Given the description of an element on the screen output the (x, y) to click on. 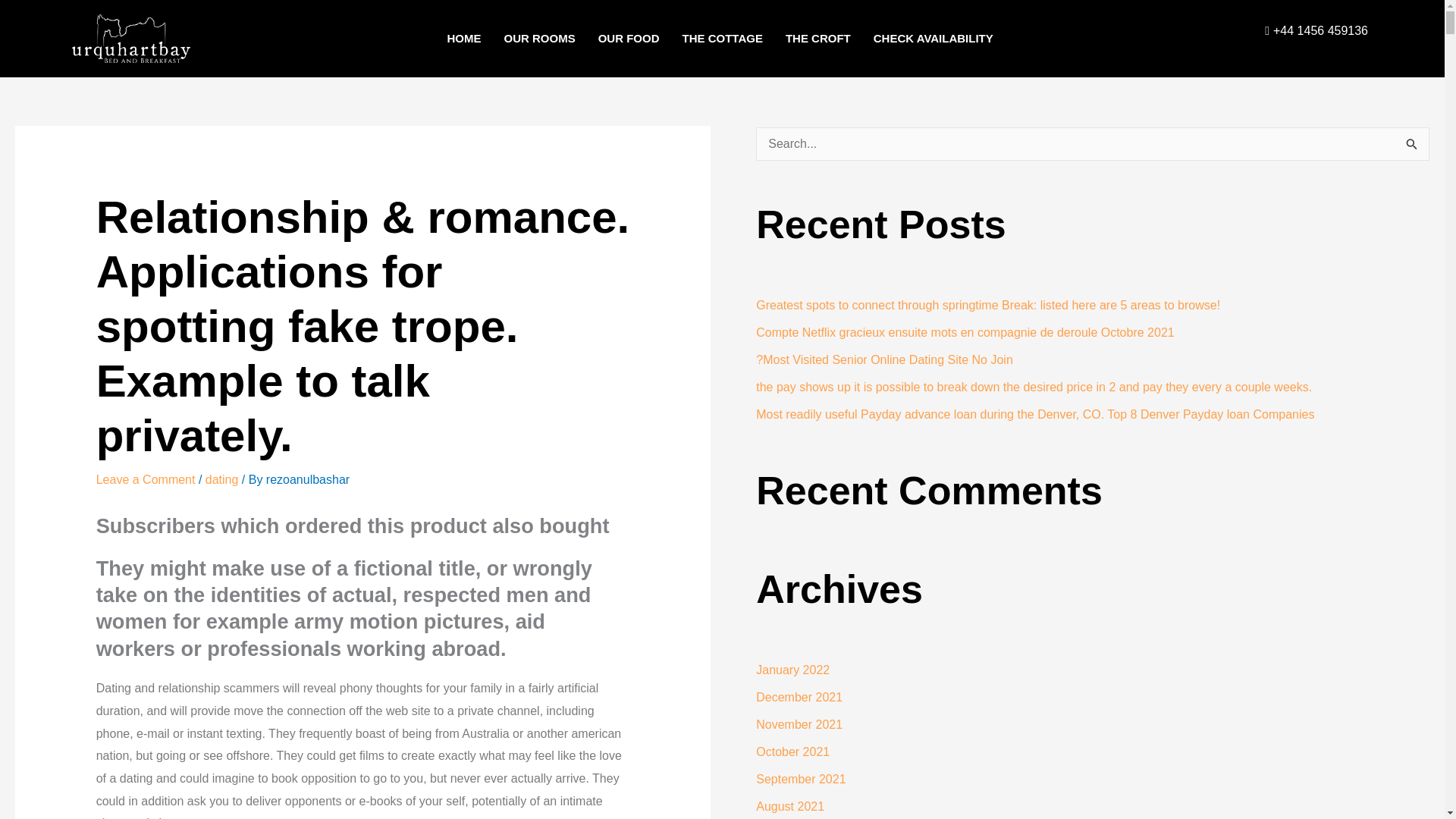
THE COTTAGE (721, 38)
January 2022 (792, 669)
November 2021 (799, 724)
October 2021 (792, 751)
View all posts by rezoanulbashar (307, 479)
HOME (463, 38)
CHECK AVAILABILITY (932, 38)
